Given the description of an element on the screen output the (x, y) to click on. 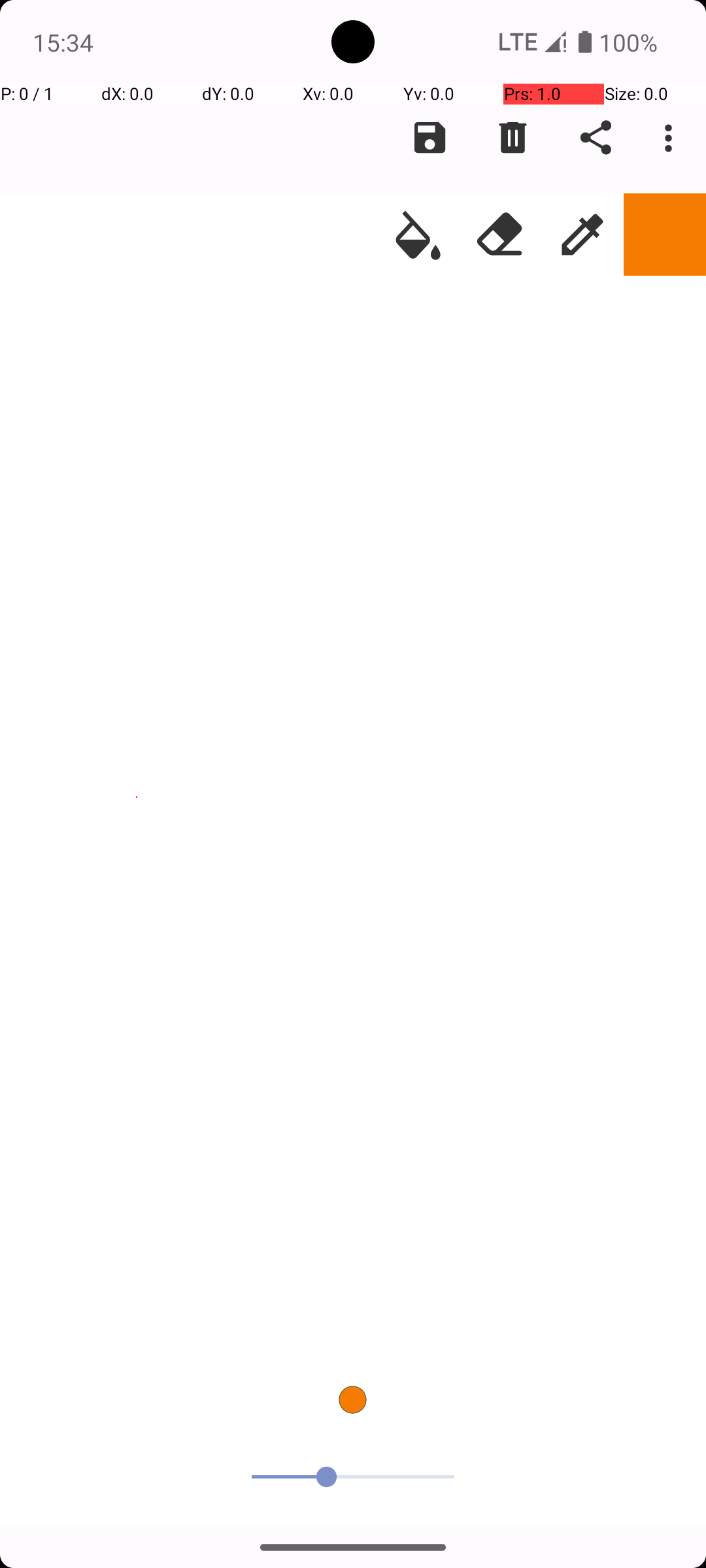
Bucket fill Element type: android.widget.ImageView (417, 234)
Eyedropper Element type: android.widget.ImageView (582, 234)
Change color Element type: android.widget.ImageView (664, 234)
